Given the description of an element on the screen output the (x, y) to click on. 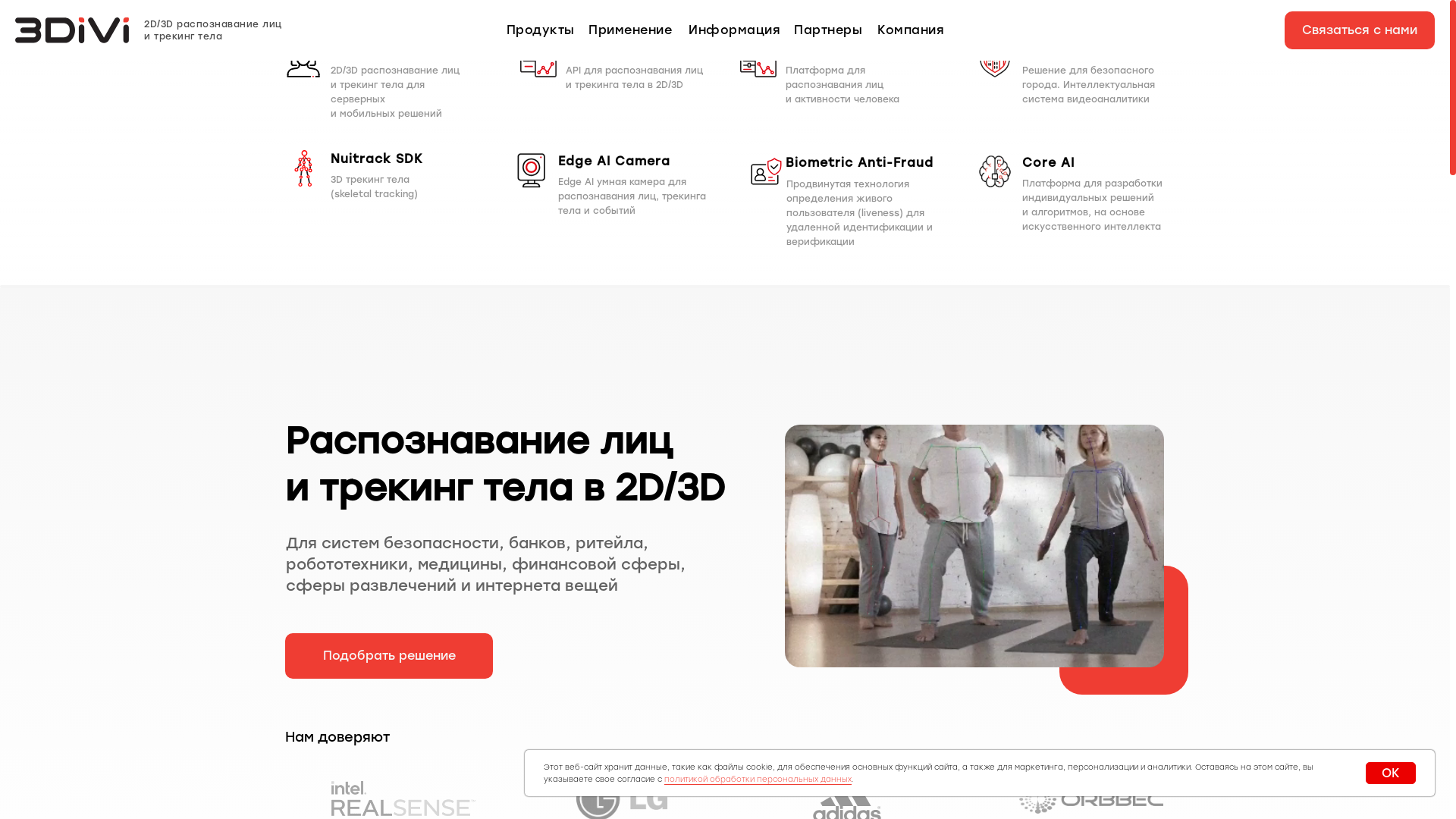
Edge AI Camera Element type: text (626, 161)
Core AI Element type: text (1090, 162)
Image API Element type: text (633, 49)
Omni Platform Element type: text (853, 49)
Face SDK Element type: text (398, 49)
Biometric Anti-Fraud Element type: text (880, 162)
Papillon One Element type: text (1090, 49)
Nuitrack SDK Element type: text (398, 159)
